Given the description of an element on the screen output the (x, y) to click on. 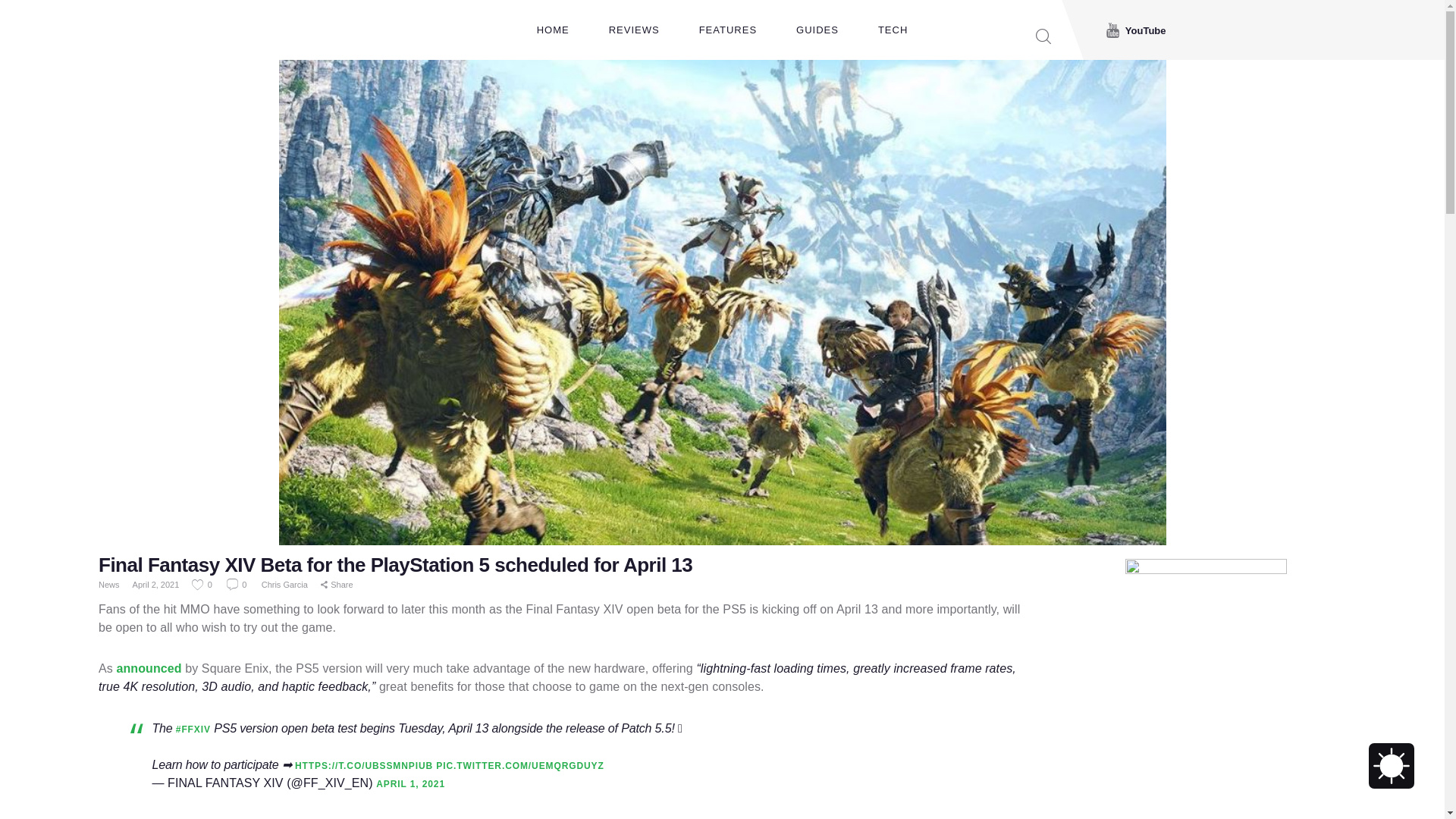
0 (203, 583)
0 (237, 583)
Chris Garcia (286, 583)
Share (336, 585)
FEATURES (727, 30)
News (109, 583)
APRIL 1, 2021 (410, 783)
April 2, 2021 (155, 583)
announced (148, 667)
HOME (552, 30)
YouTube (1136, 30)
GUIDES (817, 30)
REVIEWS (634, 30)
Like (203, 583)
TECH (893, 30)
